Given the description of an element on the screen output the (x, y) to click on. 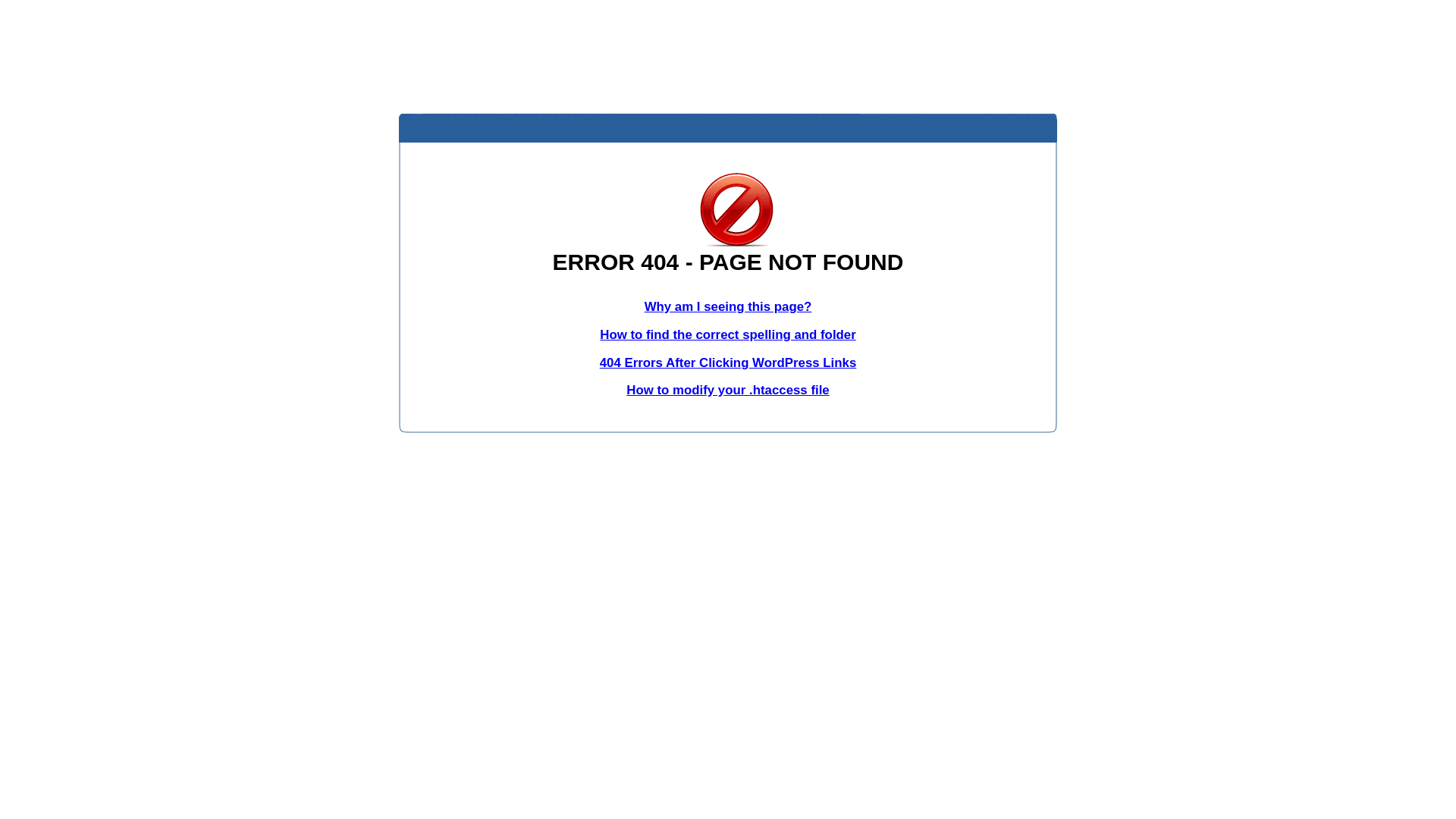
How to find the correct spelling and folder Element type: text (727, 334)
Why am I seeing this page? Element type: text (728, 306)
How to modify your .htaccess file Element type: text (727, 389)
404 Errors After Clicking WordPress Links Element type: text (727, 362)
